Given the description of an element on the screen output the (x, y) to click on. 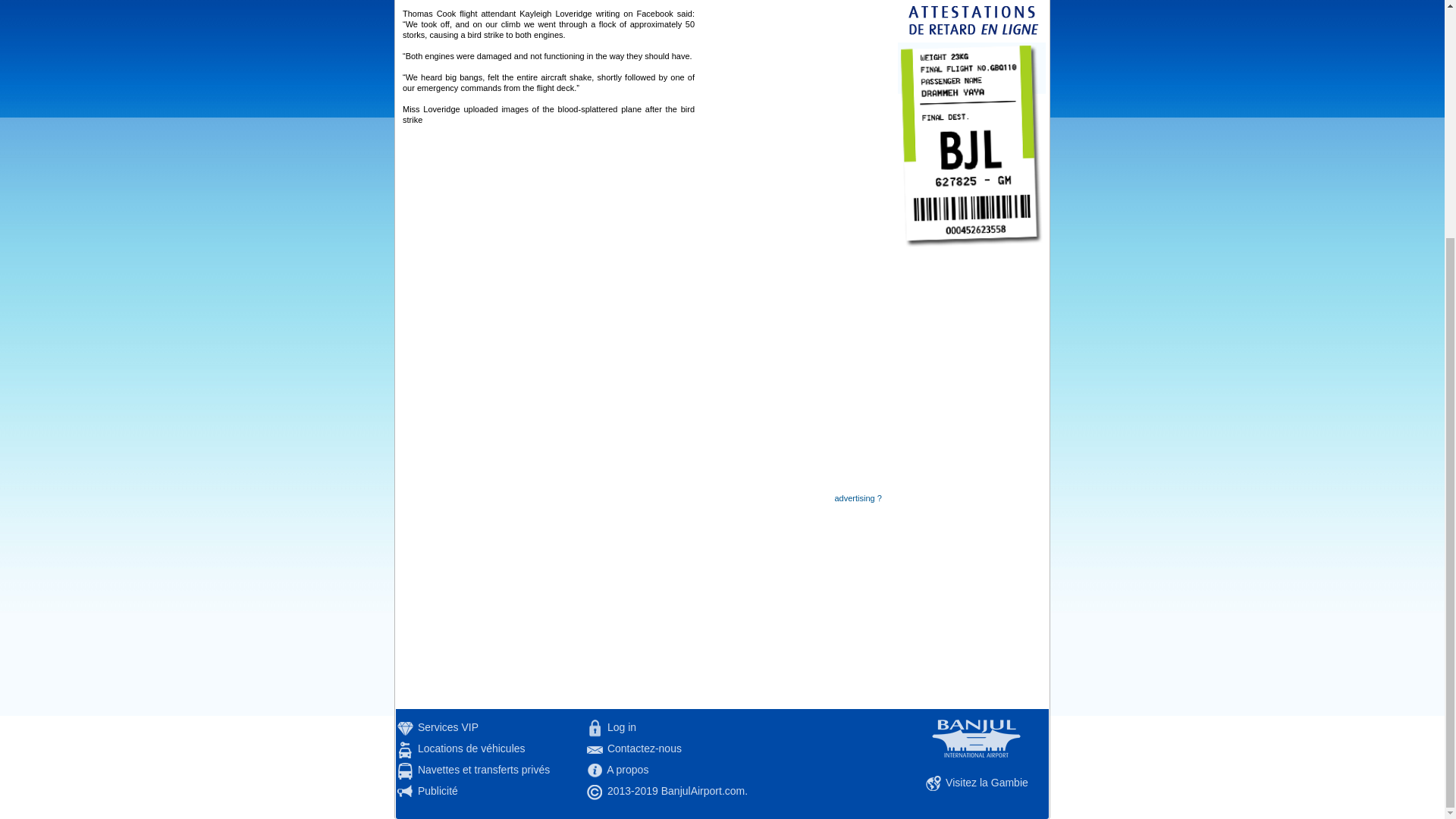
visitez la Gambie (932, 783)
copyright (594, 791)
Navettes et transferts Banjul (405, 770)
Login (594, 728)
A propos (594, 770)
